Given the description of an element on the screen output the (x, y) to click on. 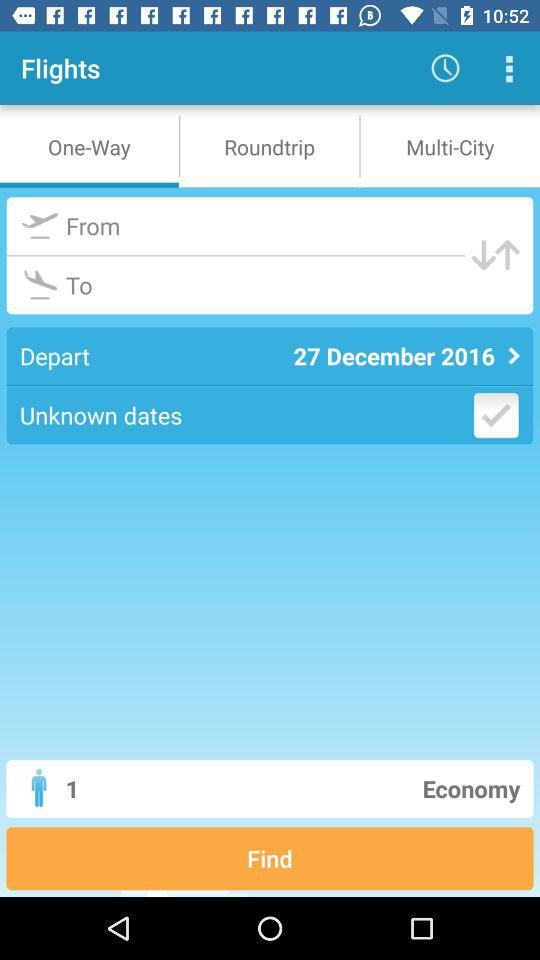
press the economy (346, 788)
